Given the description of an element on the screen output the (x, y) to click on. 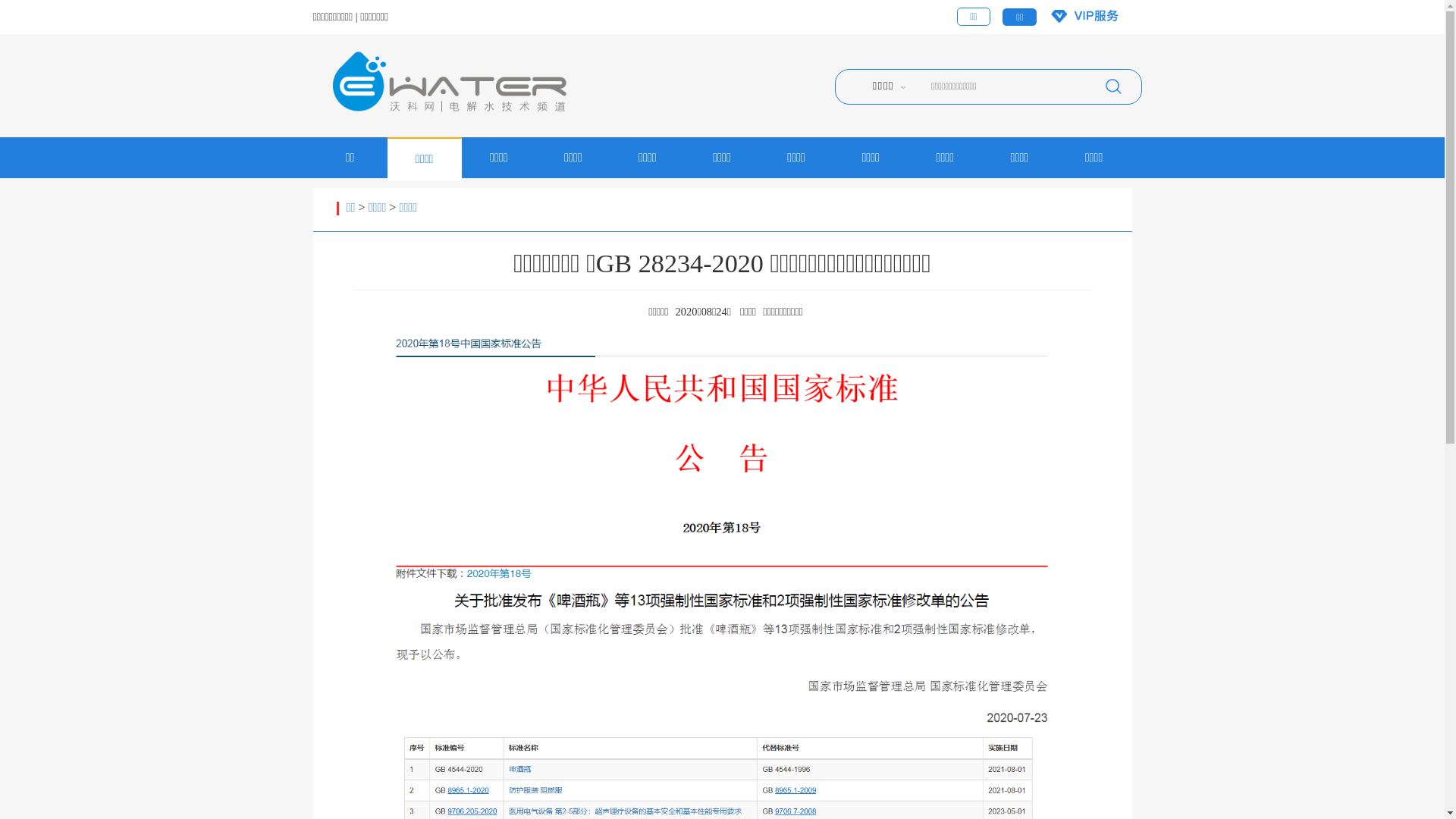
640.png Element type: hover (801, 588)
